Given the description of an element on the screen output the (x, y) to click on. 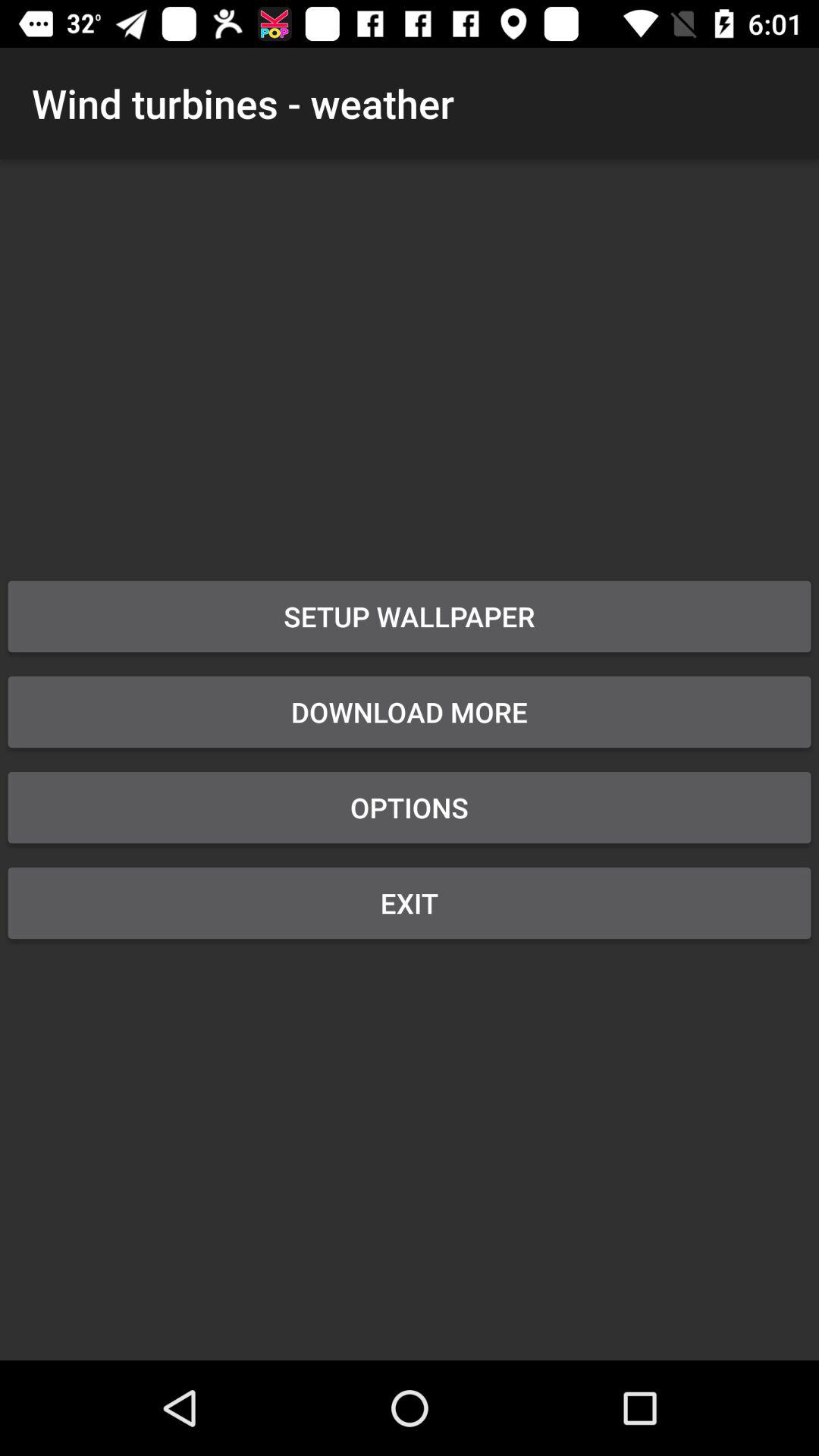
turn off the item above the options item (409, 711)
